Given the description of an element on the screen output the (x, y) to click on. 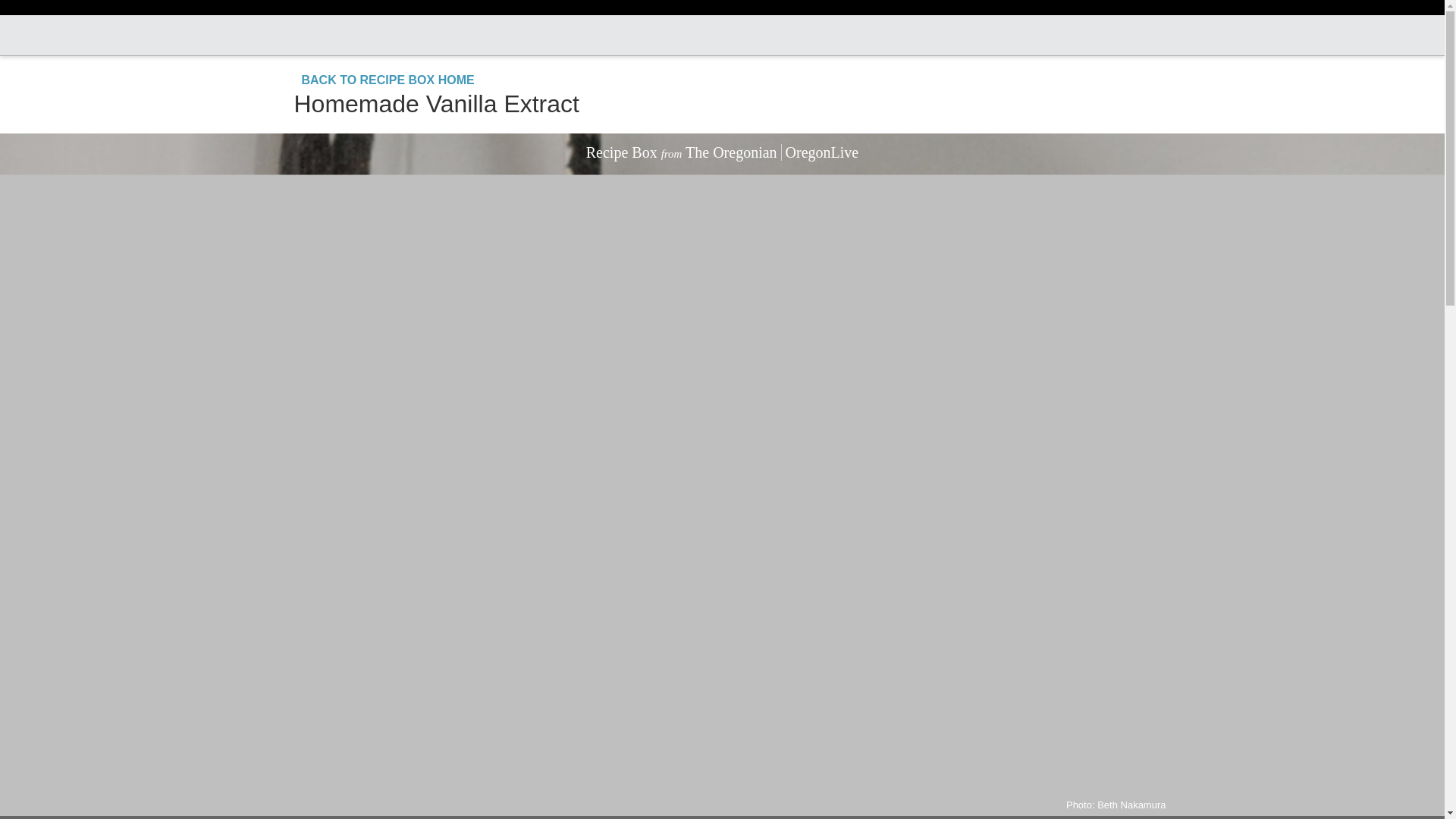
BACK TO RECIPE BOX HOME (384, 80)
OregonLive.com (720, 35)
OregonLive.com (720, 35)
